Given the description of an element on the screen output the (x, y) to click on. 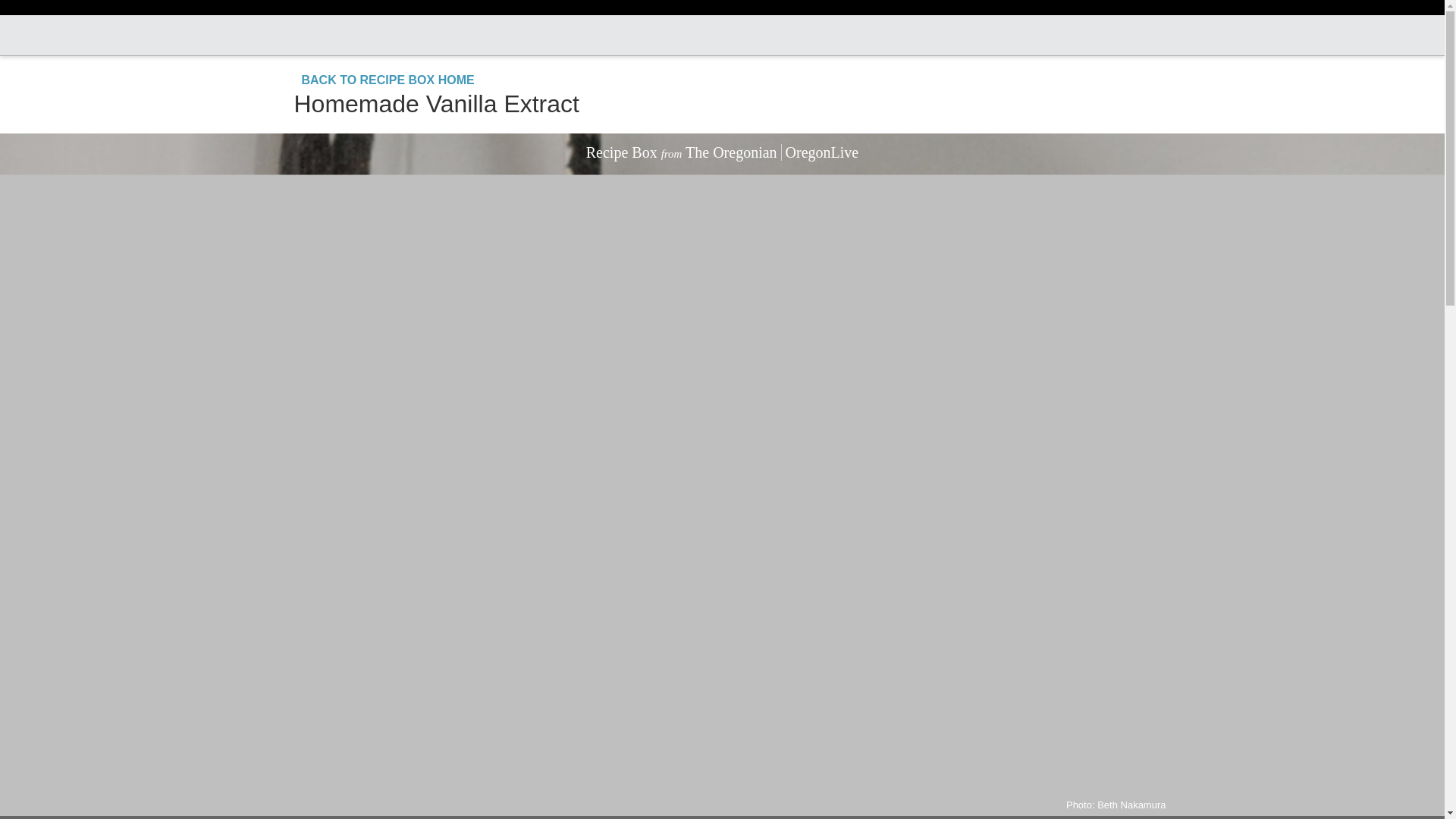
BACK TO RECIPE BOX HOME (384, 80)
OregonLive.com (720, 35)
OregonLive.com (720, 35)
